Given the description of an element on the screen output the (x, y) to click on. 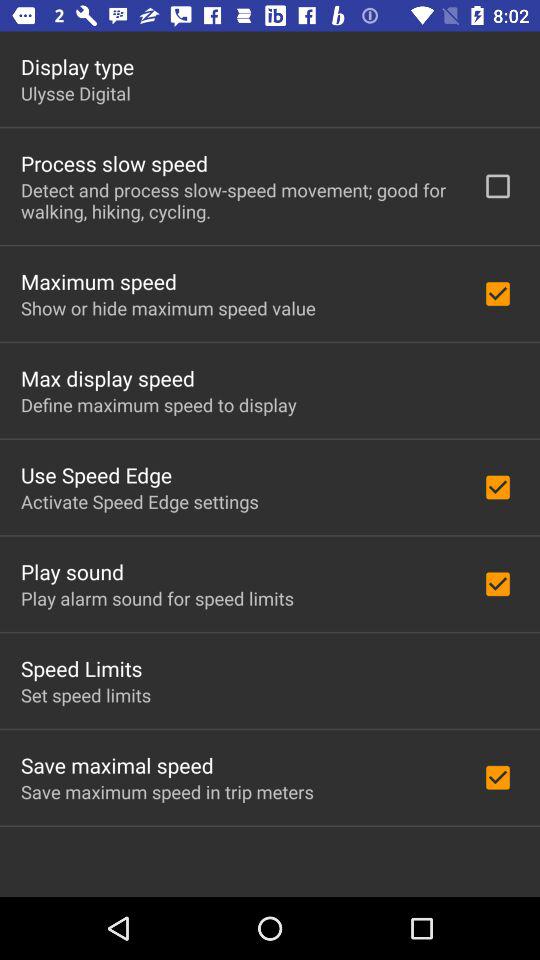
tap show or hide item (168, 307)
